Given the description of an element on the screen output the (x, y) to click on. 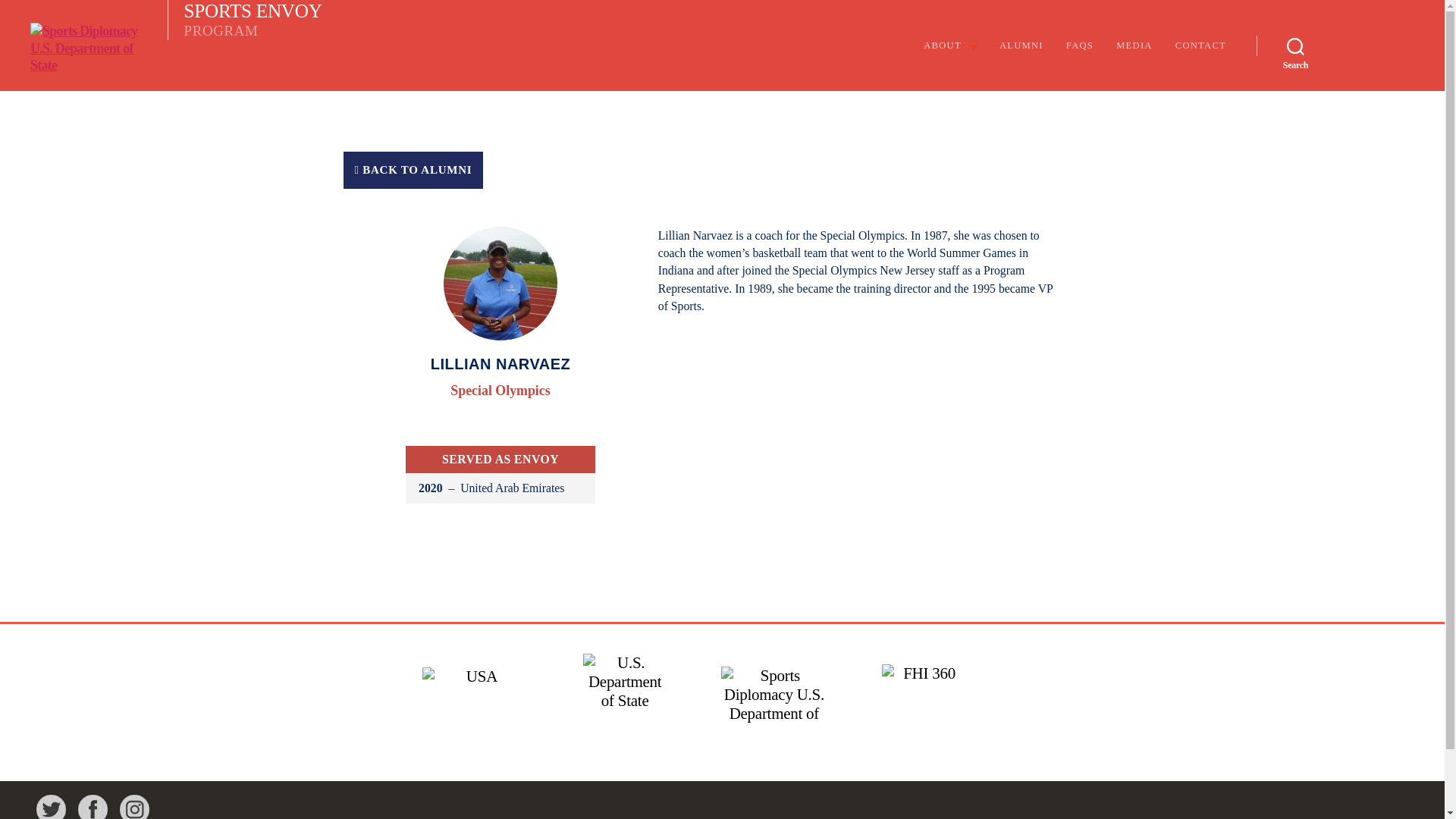
Visit Us On Twitter (50, 815)
ABOUT (949, 45)
Visit Us On Facebook (92, 815)
Search (1295, 45)
MEDIA (1134, 45)
Visit Us On Instagram (134, 815)
CONTACT (1199, 45)
ALUMNI (1020, 45)
FAQS (244, 20)
